Given the description of an element on the screen output the (x, y) to click on. 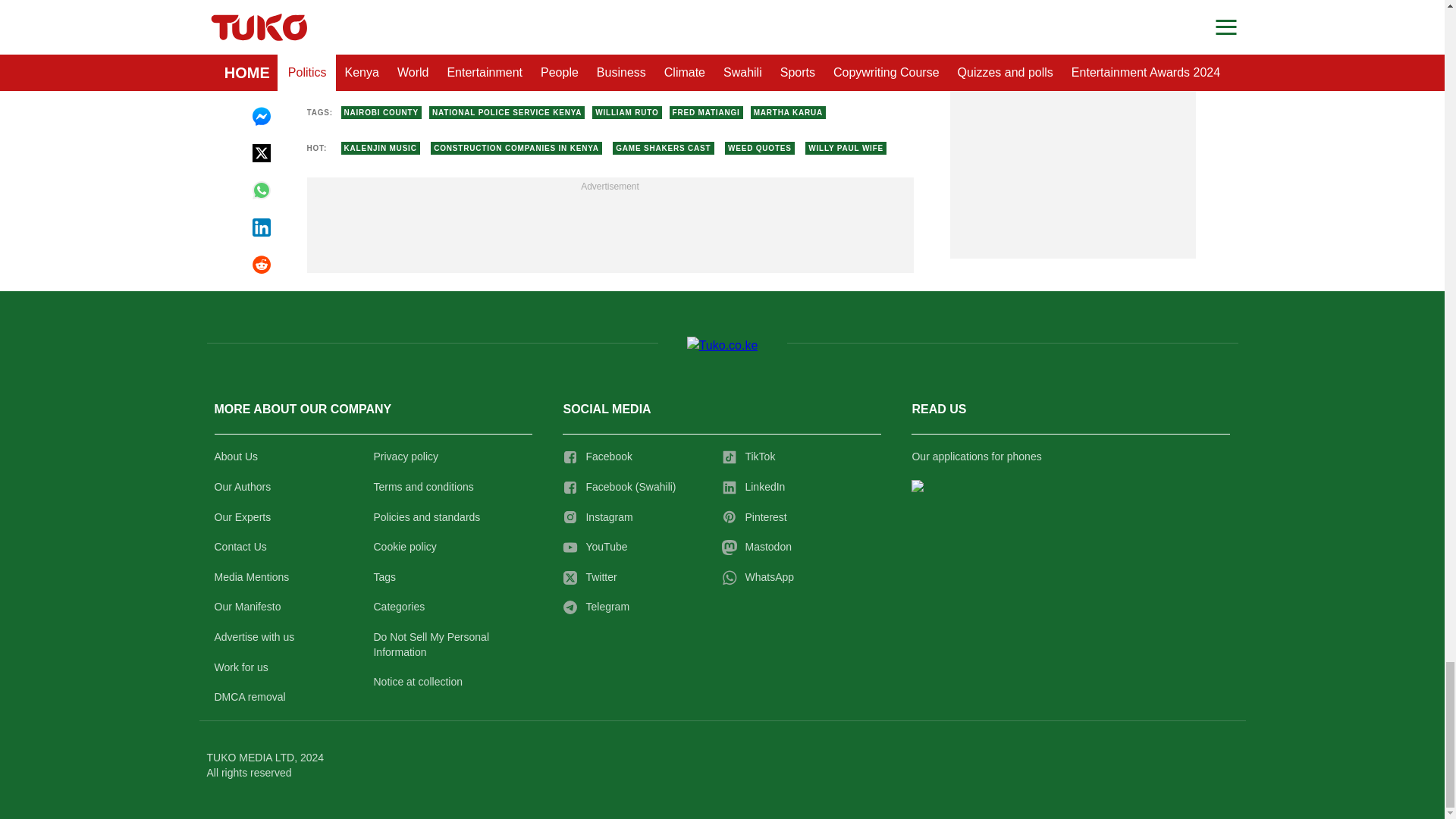
Author page (533, 63)
